Given the description of an element on the screen output the (x, y) to click on. 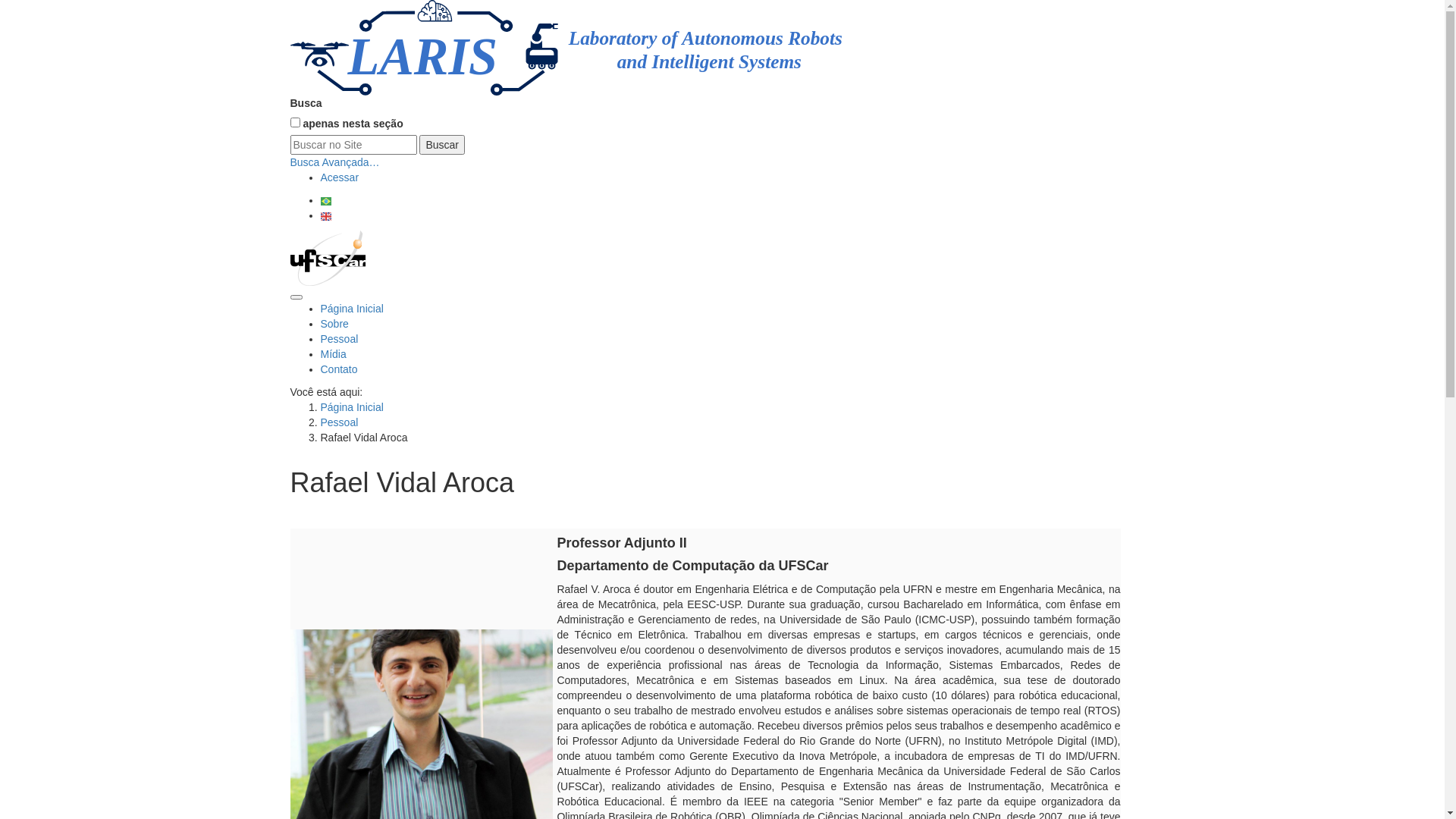
Plone site Element type: hover (604, 47)
English Element type: hover (325, 215)
Buscar Element type: text (441, 144)
Buscar no Site Element type: hover (352, 144)
Pessoal Element type: text (338, 338)
Contato Element type: text (338, 369)
English Element type: hover (325, 216)
Portal UFSCar Element type: hover (327, 257)
Pessoal Element type: text (338, 422)
Sobre Element type: text (334, 323)
Toggle navigation Element type: text (295, 296)
Acessar Element type: text (339, 177)
